Given the description of an element on the screen output the (x, y) to click on. 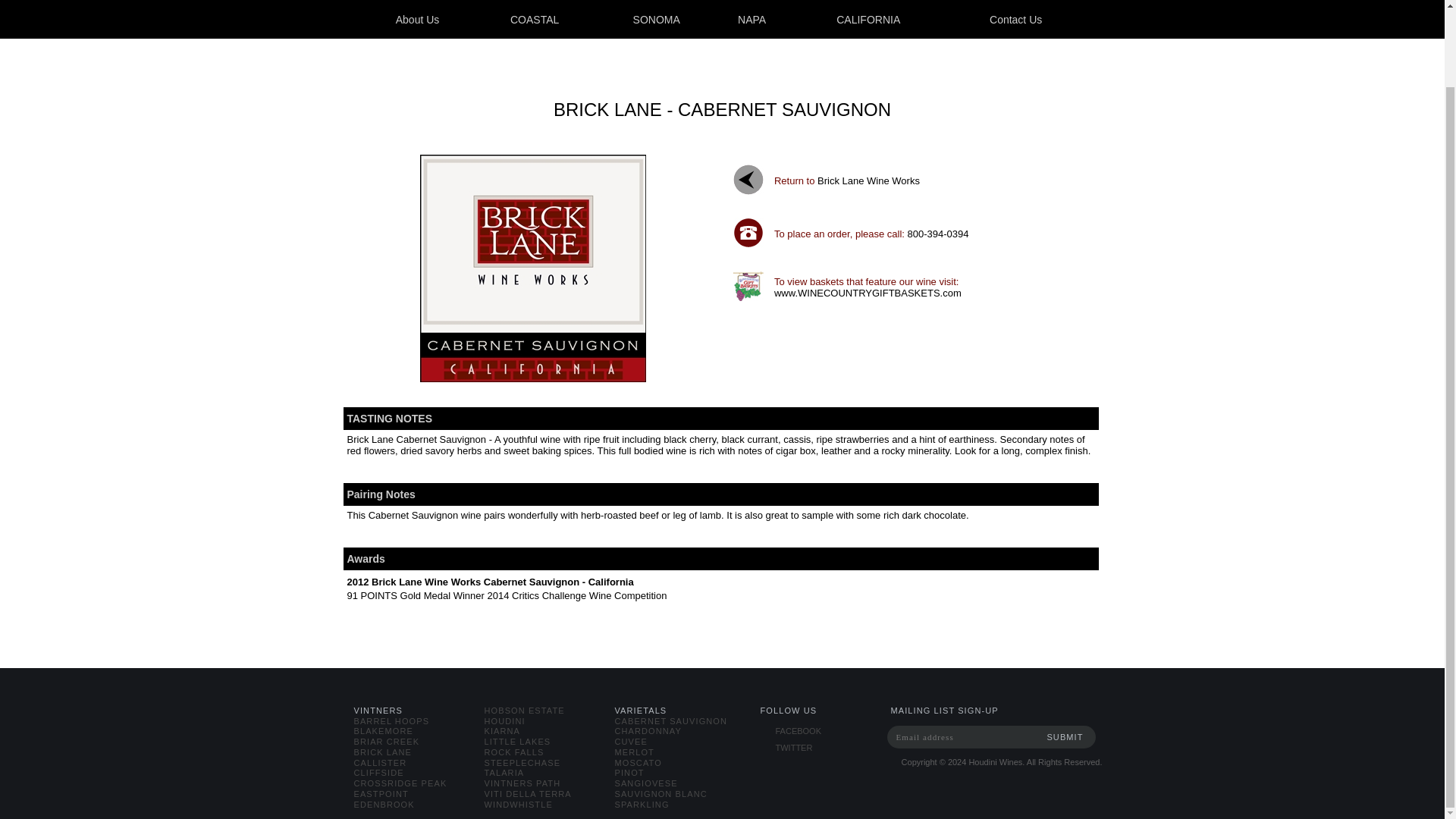
MOSCATO (637, 762)
800-394-0394 (938, 233)
LITTLE LAKES (516, 741)
EASTPOINT (380, 793)
Cliffside - Cabernet Sauvignon (533, 268)
HOBSON ESTATE (523, 709)
SONOMA (656, 19)
PINOT (628, 772)
SANGIOVESE (645, 782)
NAPA (751, 19)
About Us (417, 19)
MERLOT (633, 751)
Contact (1016, 19)
HOUDINI WINES - Coastal (534, 19)
